Given the description of an element on the screen output the (x, y) to click on. 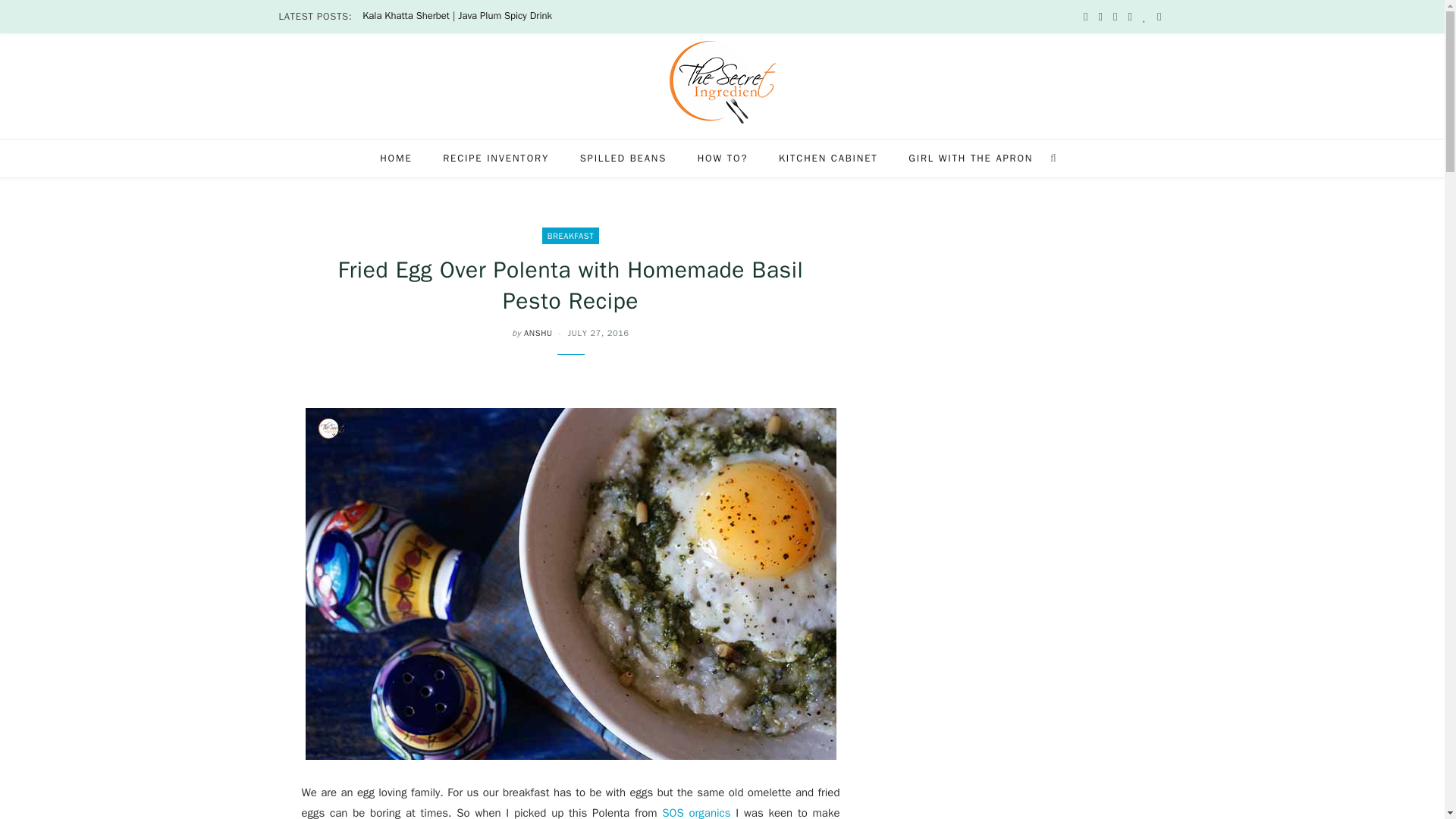
RECIPE INVENTORY (495, 158)
BREAKFAST (569, 235)
ANSHU (538, 332)
Basic Cooking (722, 158)
GIRL WITH THE APRON (970, 158)
JULY 27, 2016 (597, 332)
Articles for Better Cooking (622, 158)
SPILLED BEANS (622, 158)
KITCHEN CABINET (828, 158)
HOW TO? (722, 158)
Glossary to unknown (828, 158)
Search for Recipe (495, 158)
SOS organics (696, 812)
HOME (395, 158)
The Secret Ingredient (721, 81)
